Given the description of an element on the screen output the (x, y) to click on. 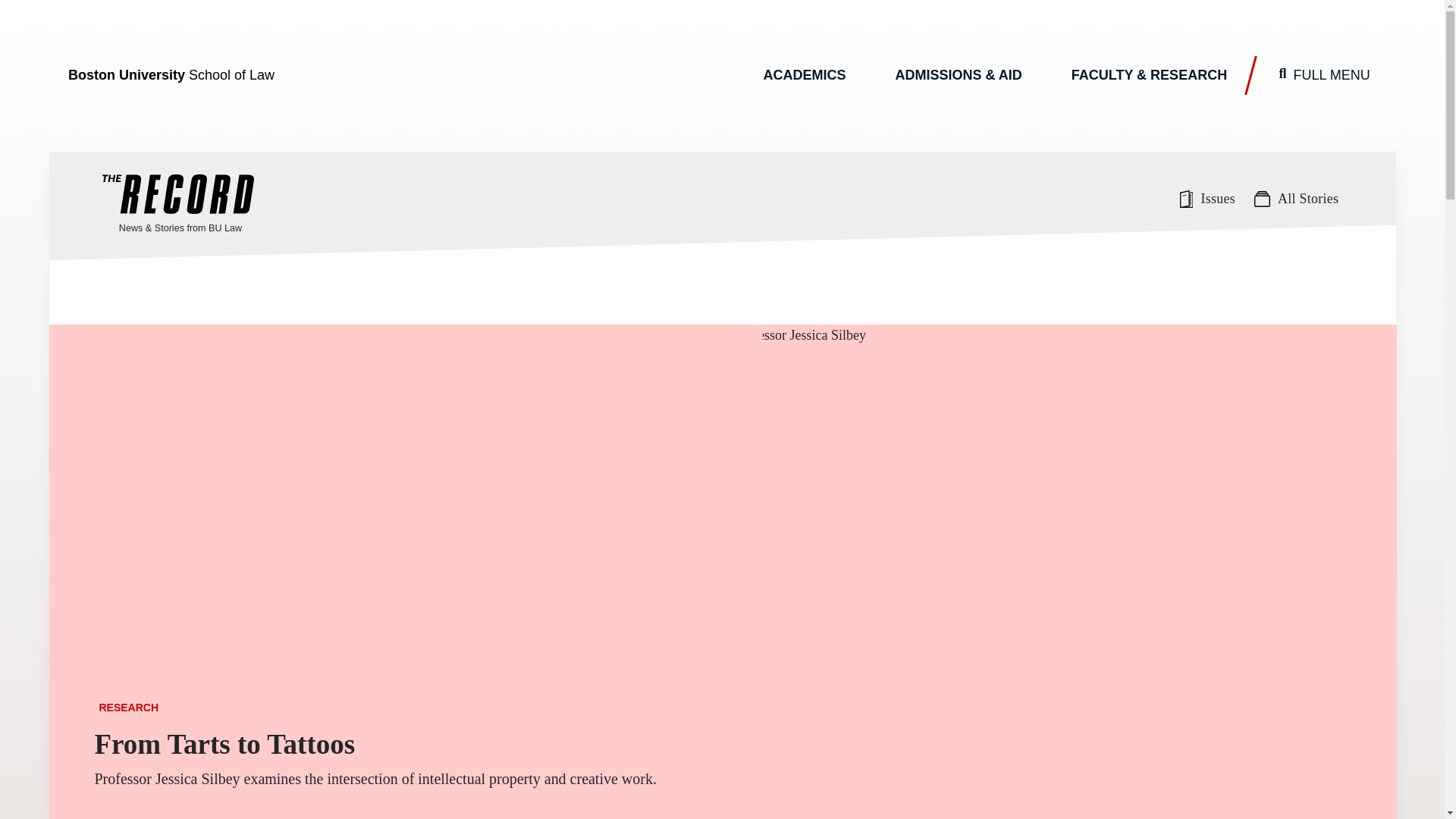
FULL MENU (1324, 75)
Boston University School of Law (171, 75)
ACADEMICS (803, 75)
